Given the description of an element on the screen output the (x, y) to click on. 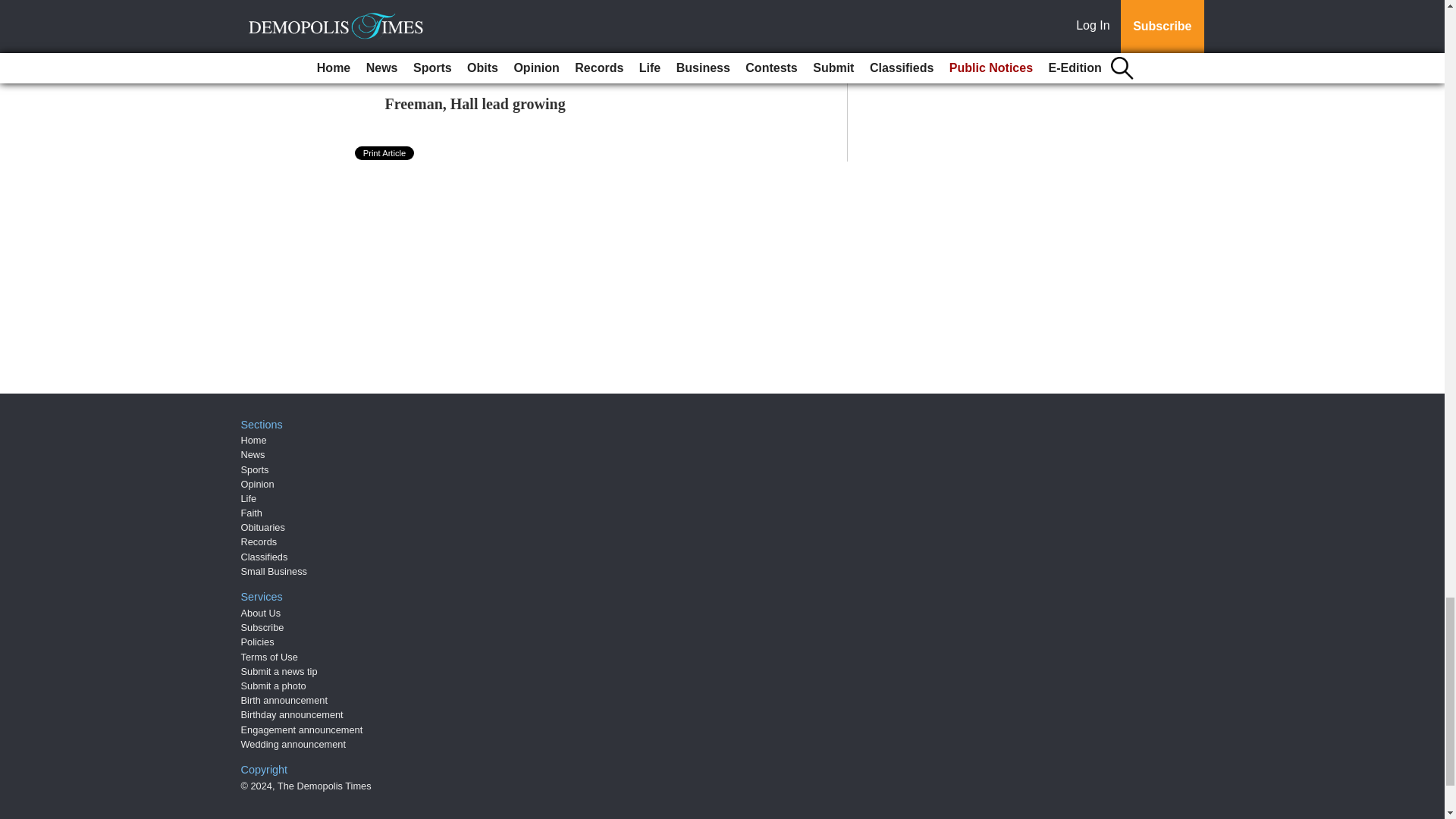
Print Article (384, 152)
Petrey takes D2 race; Hall and Freeman cling to large lead (573, 52)
Freeman, Hall, Petrey win runoffs (495, 4)
Freeman, Hall lead growing (475, 103)
Petrey takes D2 race; Hall and Freeman cling to large lead (573, 52)
Freeman, Hall, Petrey win runoffs (495, 4)
Freeman, Hall lead growing (475, 103)
